Given the description of an element on the screen output the (x, y) to click on. 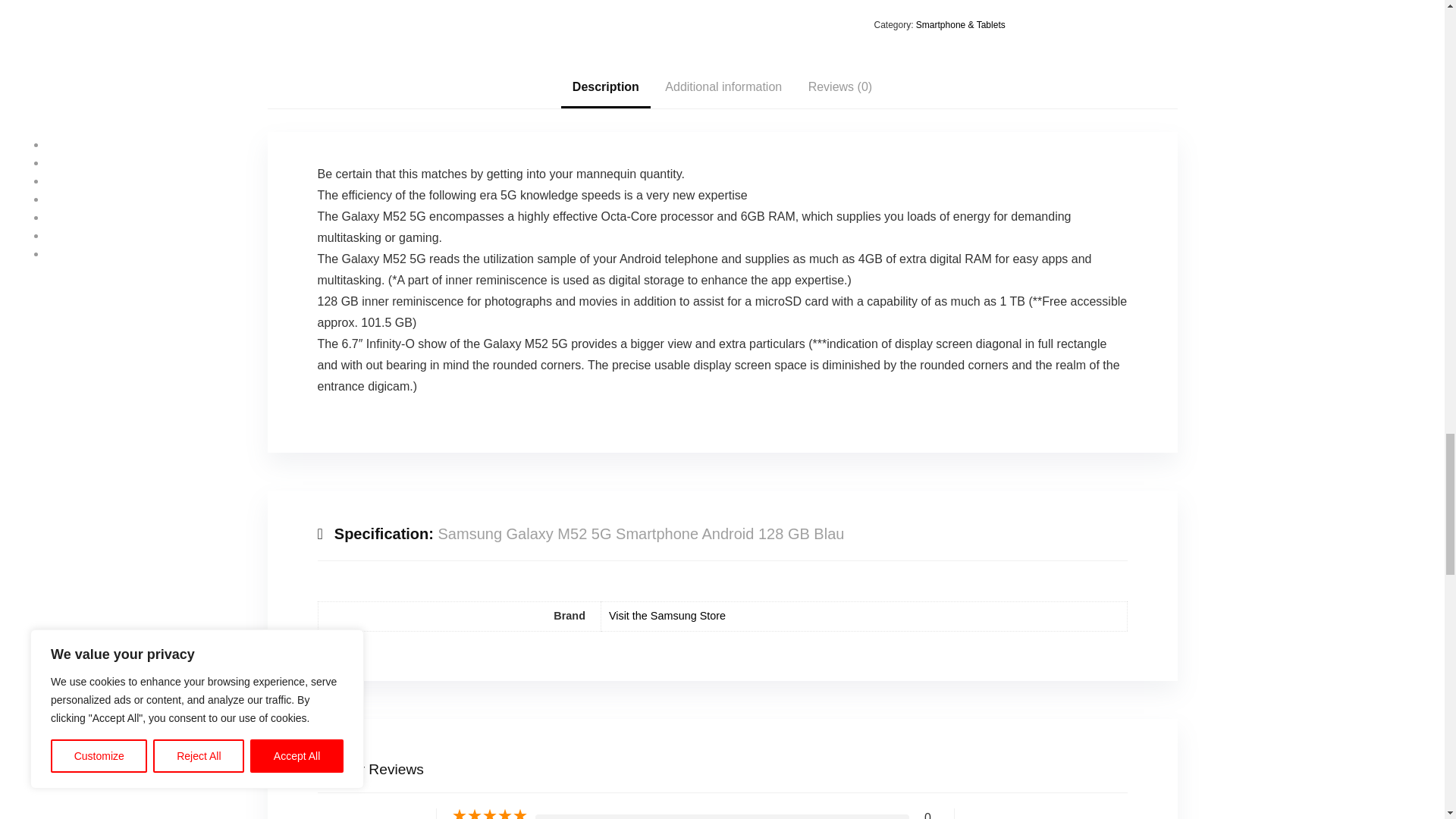
Rated 5 out of 5 (489, 813)
